Given the description of an element on the screen output the (x, y) to click on. 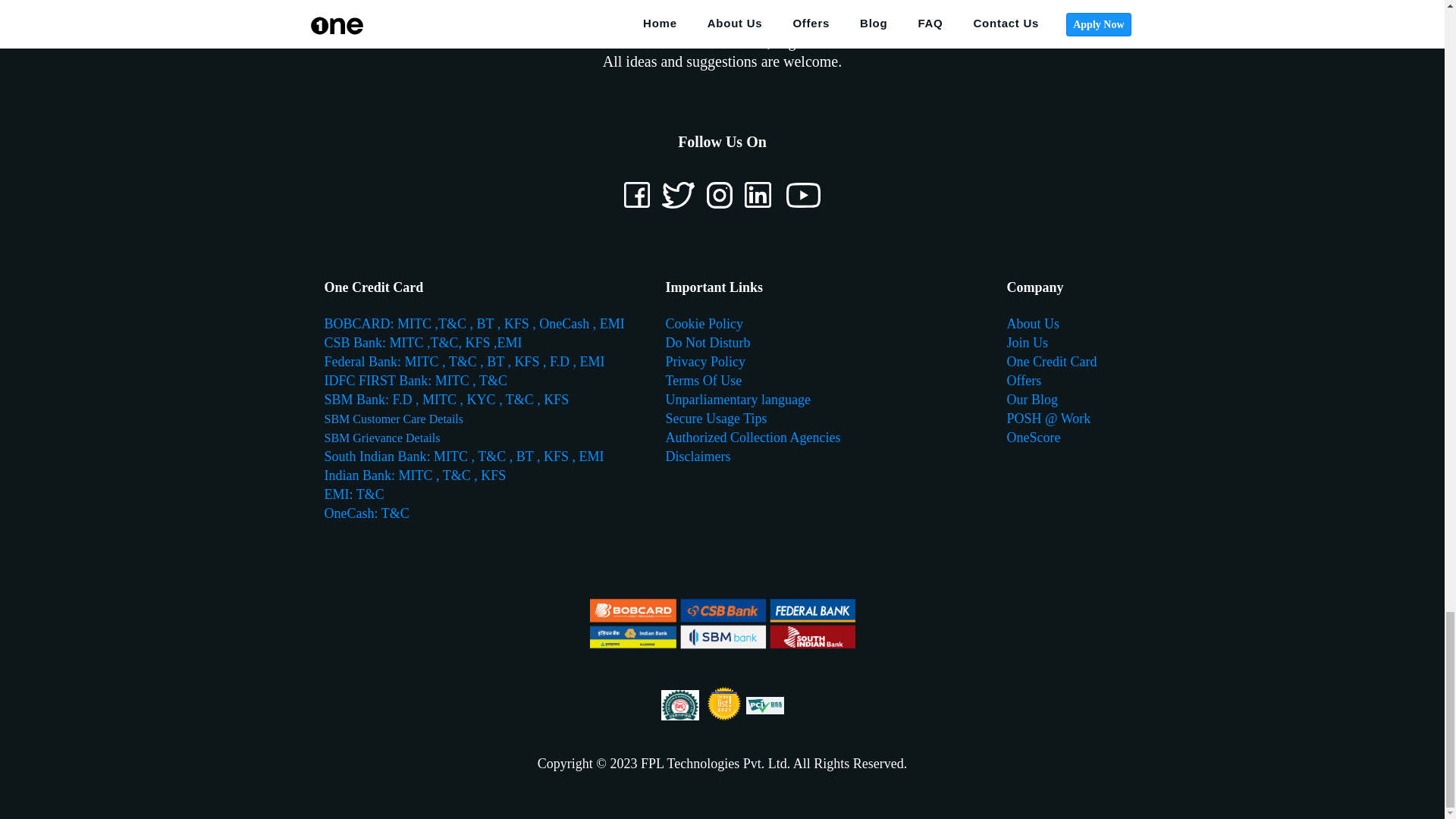
EMI (591, 361)
MITC (416, 323)
KFS (477, 342)
MITC (441, 399)
KFS (528, 361)
MITC (409, 342)
F.D (402, 399)
KFS (517, 323)
EMI (611, 323)
EMI (509, 342)
SBM Customer Care Details (394, 418)
SBM Grievance Details (382, 437)
KYC (481, 399)
BT (486, 323)
KFS (556, 399)
